Given the description of an element on the screen output the (x, y) to click on. 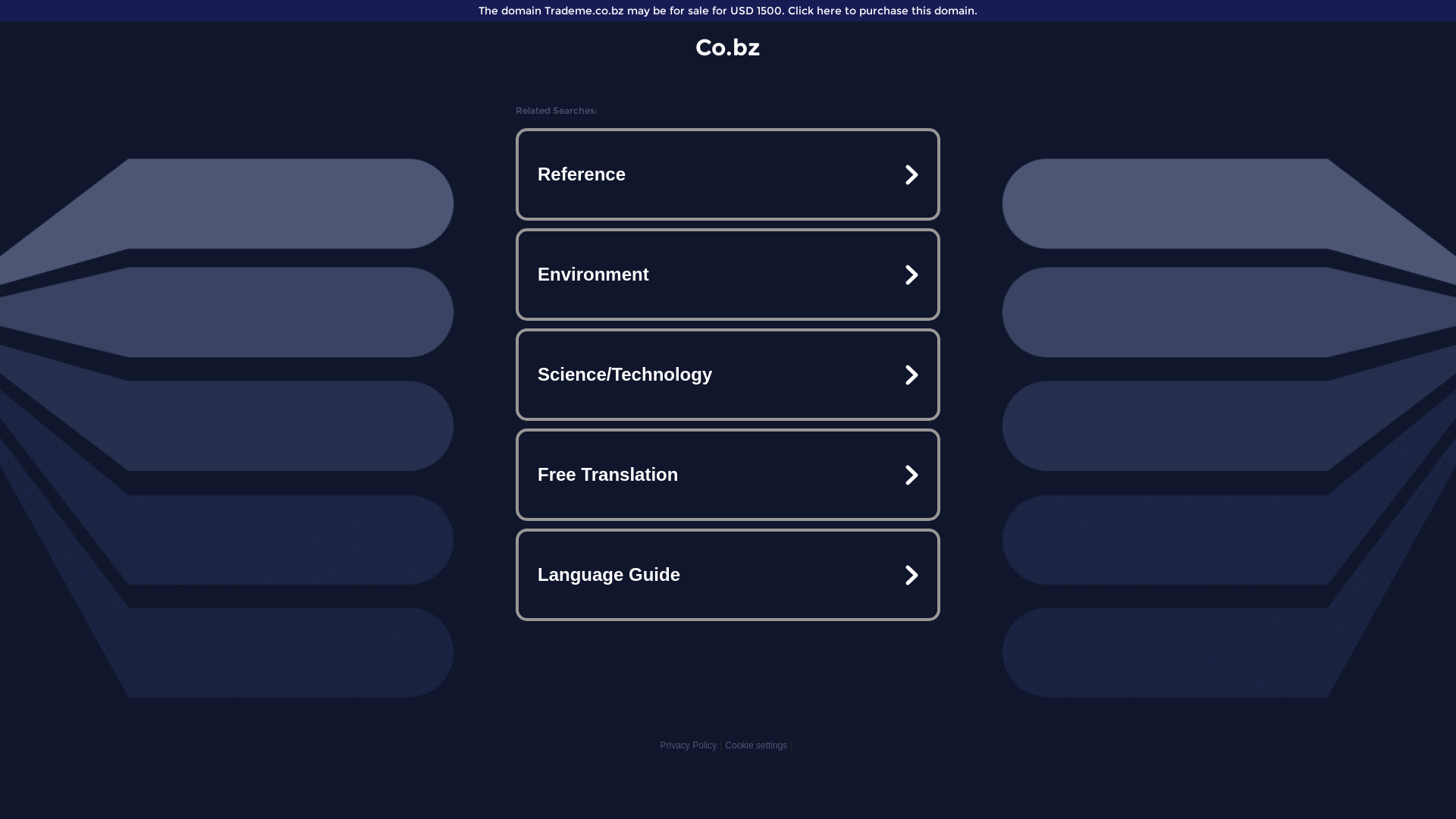
Privacy Policy Element type: text (687, 745)
Environment Element type: text (727, 274)
Language Guide Element type: text (727, 574)
Cookie settings Element type: text (755, 745)
Free Translation Element type: text (727, 474)
Co.bz Element type: text (727, 47)
Reference Element type: text (727, 174)
Science/Technology Element type: text (727, 374)
